Given the description of an element on the screen output the (x, y) to click on. 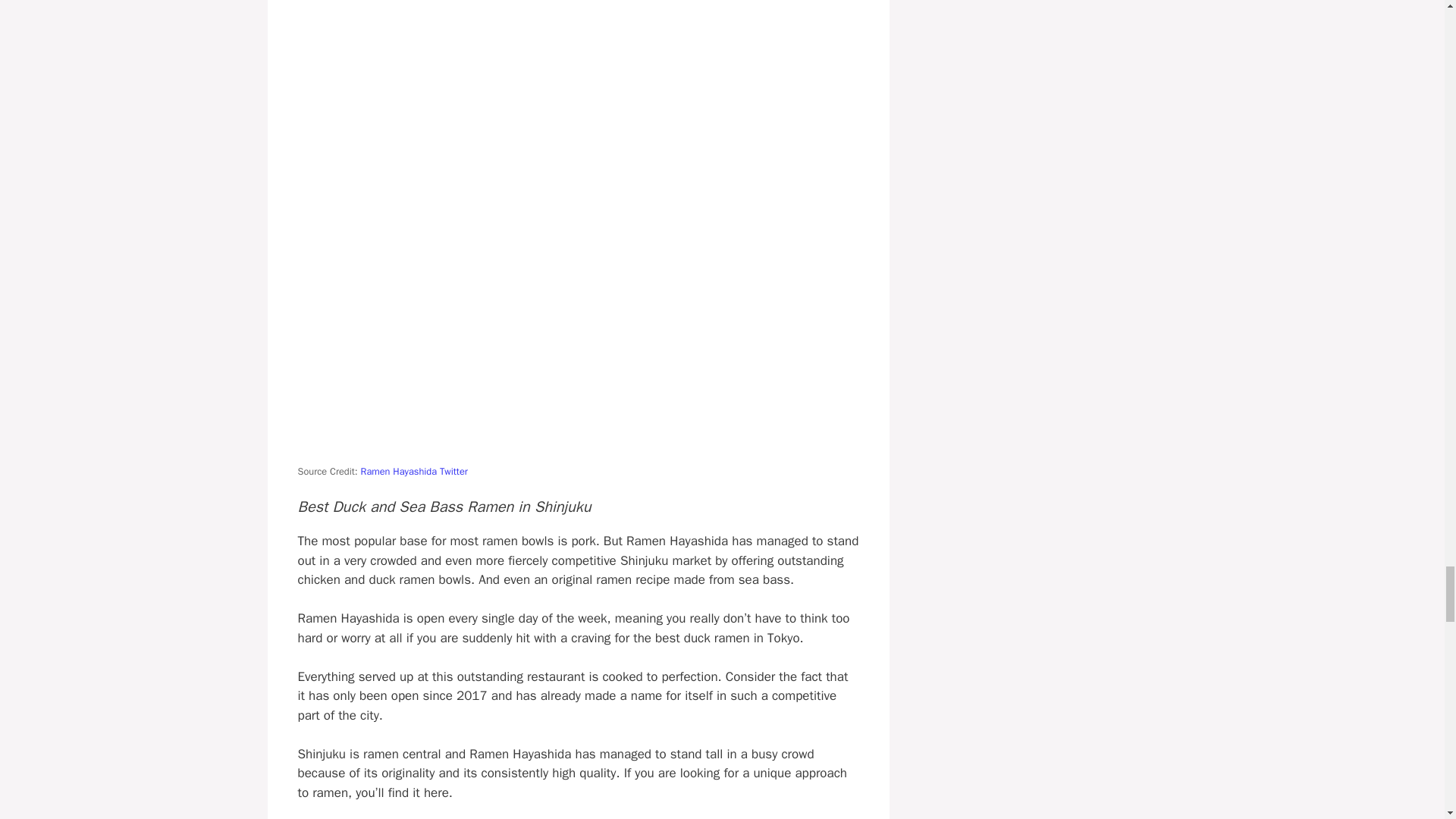
Ramen Hayashida Twitter (414, 471)
